Given the description of an element on the screen output the (x, y) to click on. 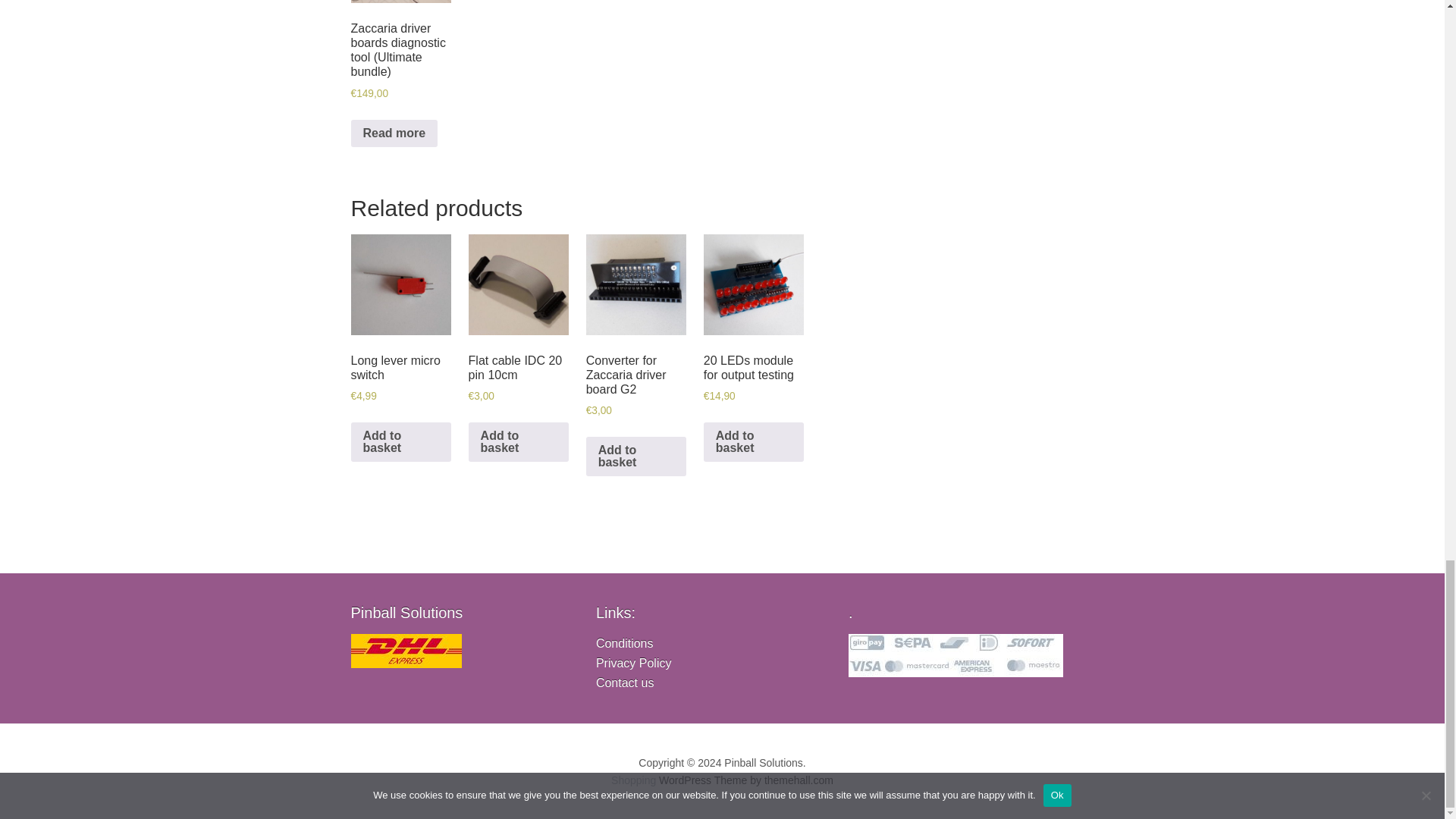
Shopping WordPress Theme (633, 779)
